Given the description of an element on the screen output the (x, y) to click on. 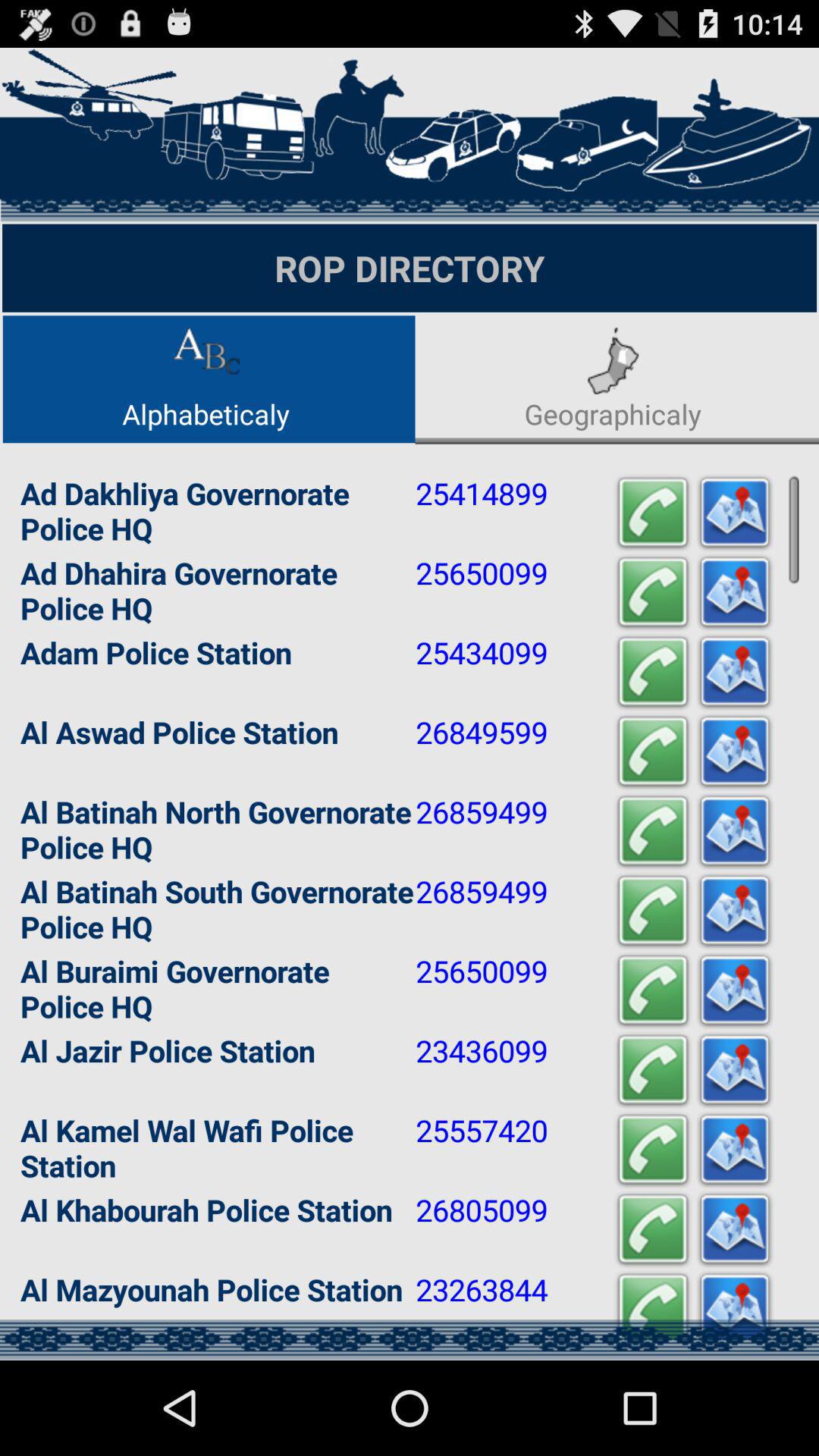
call option (652, 672)
